Given the description of an element on the screen output the (x, y) to click on. 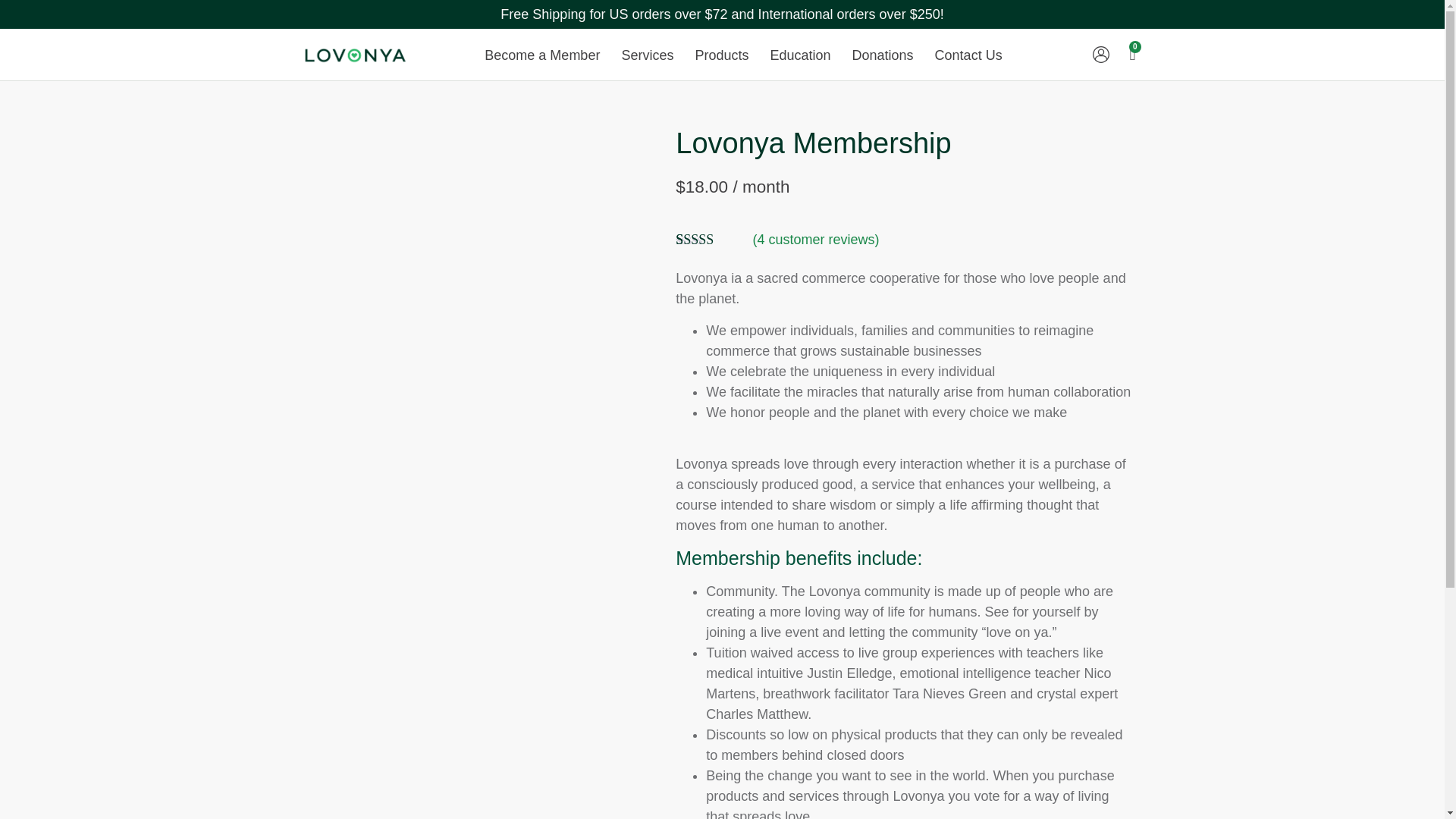
Education (799, 55)
Contact Us (968, 55)
Services (647, 55)
Become a Member (542, 55)
Products (721, 55)
0 (1131, 54)
Donations (882, 55)
